Given the description of an element on the screen output the (x, y) to click on. 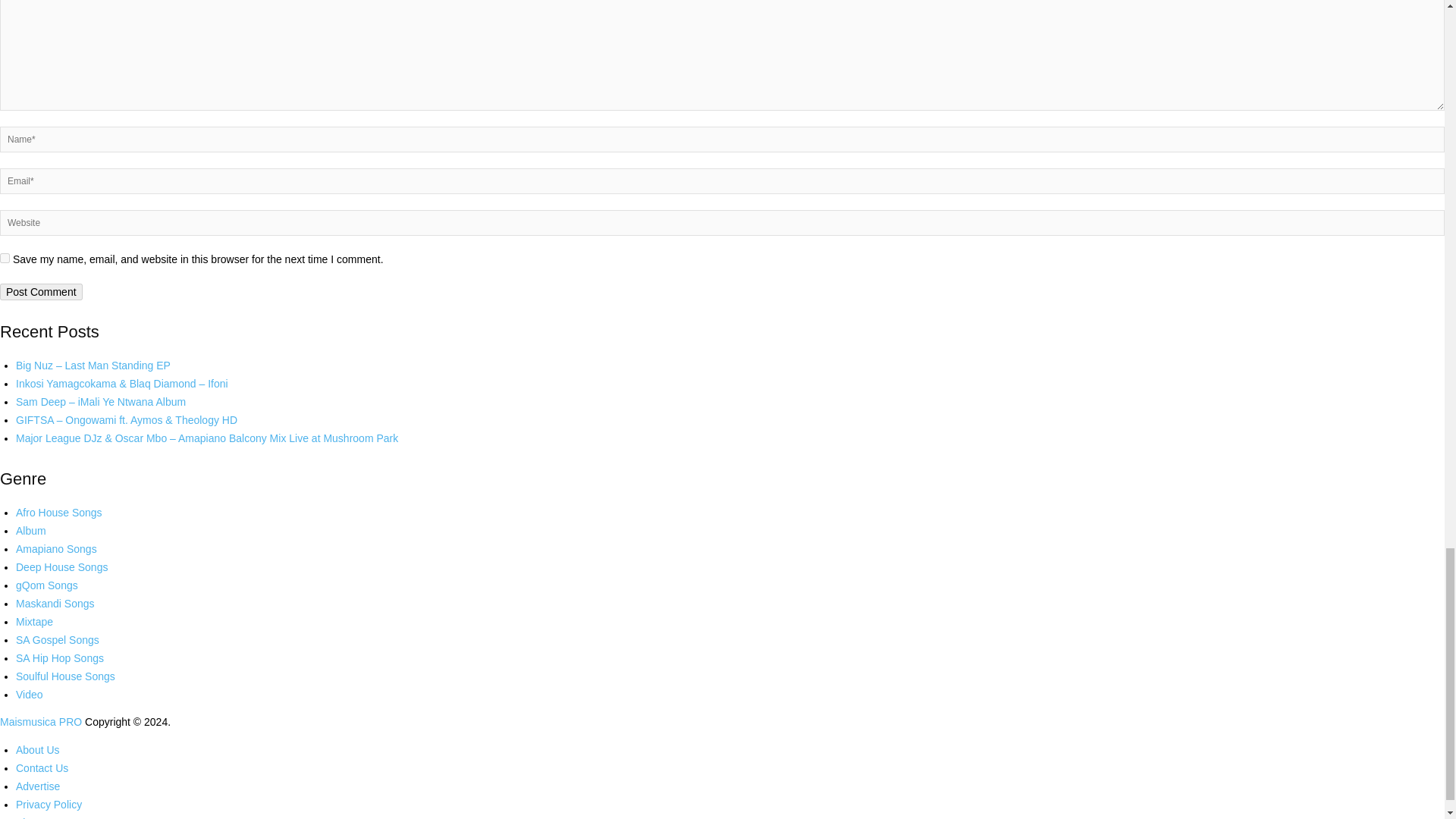
yes (5, 257)
Post Comment (41, 291)
